Given the description of an element on the screen output the (x, y) to click on. 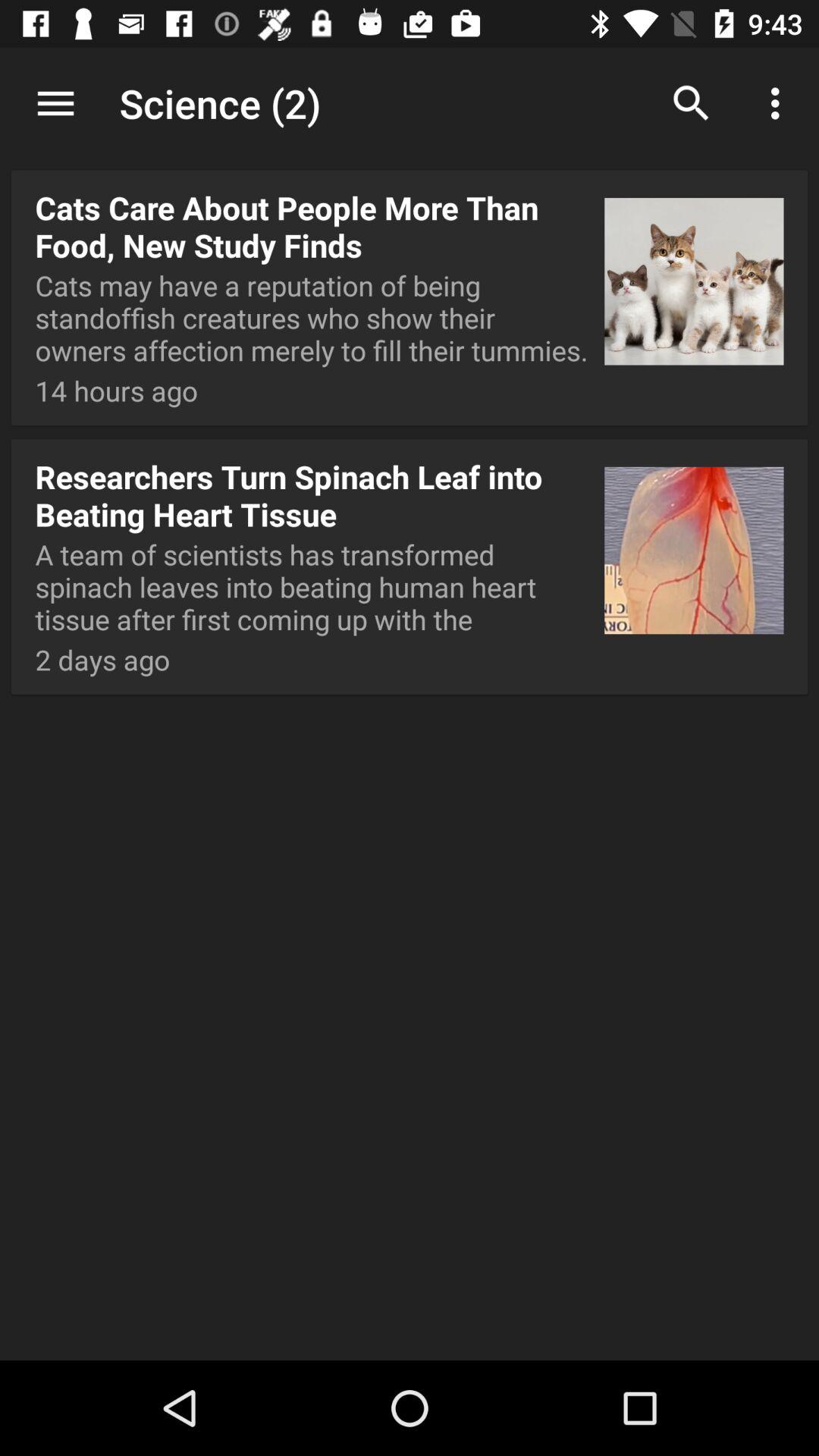
tap the app to the right of the science (2) icon (691, 103)
